Given the description of an element on the screen output the (x, y) to click on. 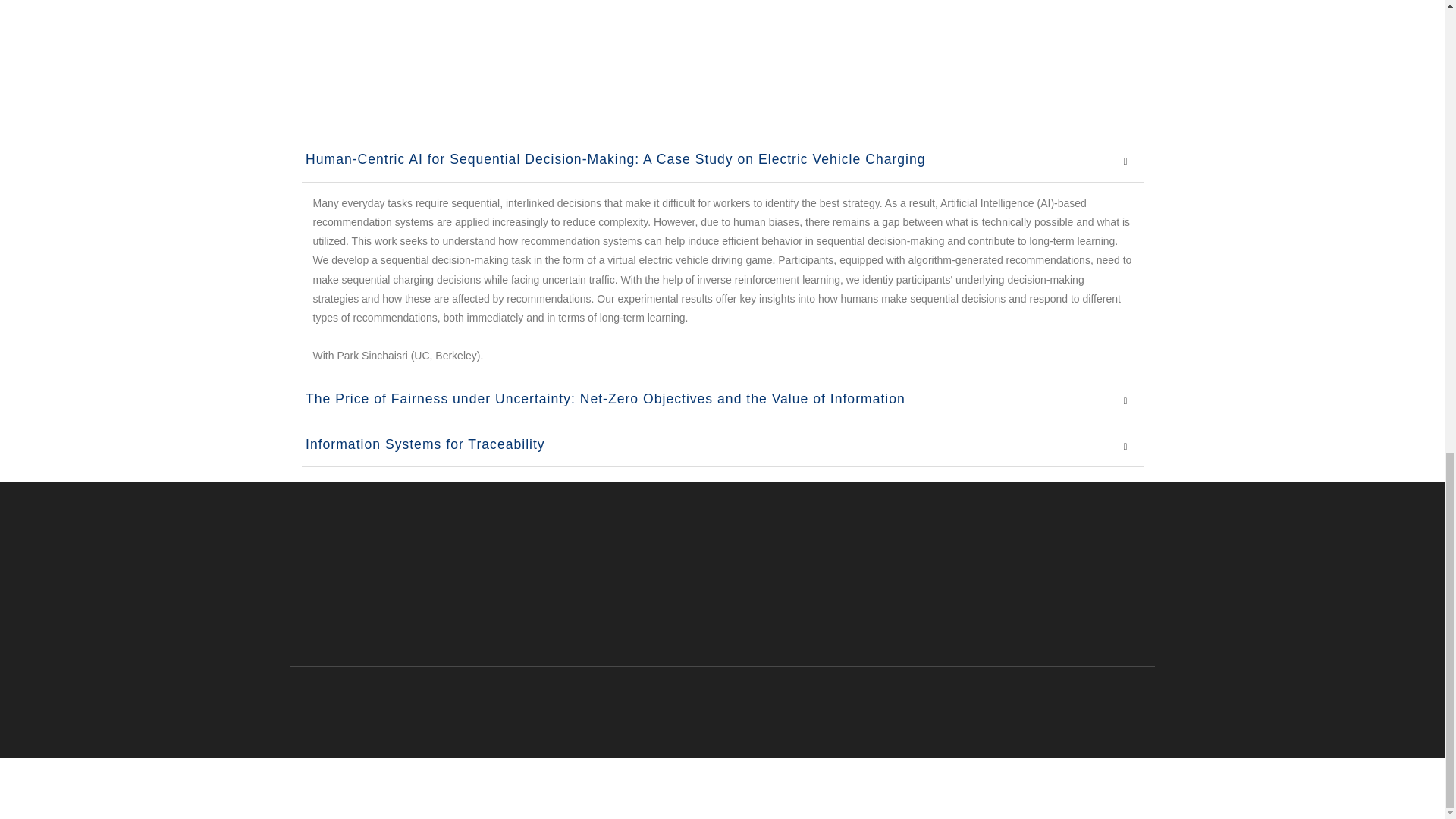
Information Systems for Traceability (422, 444)
